Given the description of an element on the screen output the (x, y) to click on. 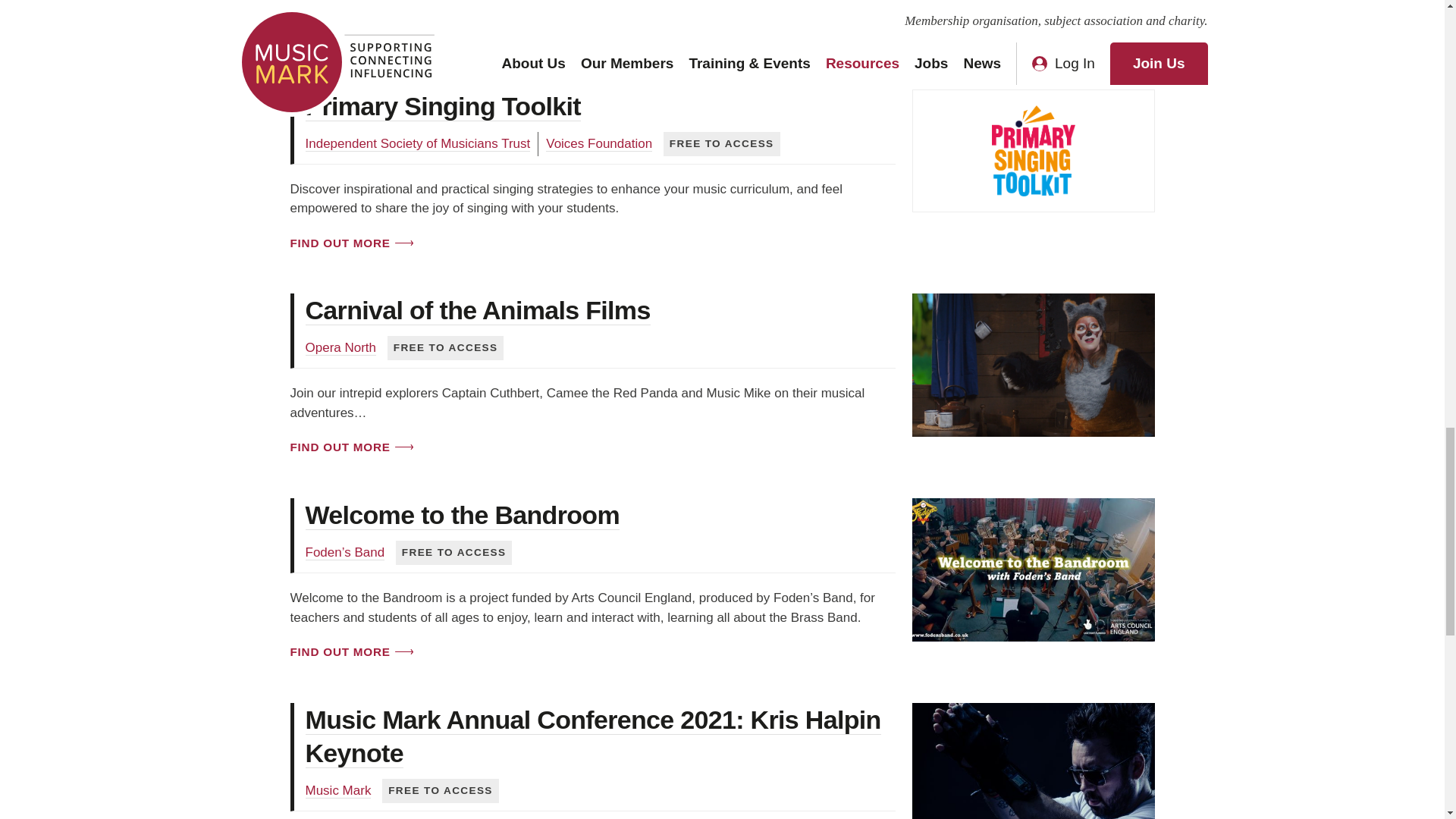
Primary Singing Toolkit (441, 106)
FIND OUT MORE (350, 242)
FIND OUT MORE (350, 37)
Independent Society of Musicians Trust (416, 143)
Voices Foundation (599, 143)
